Given the description of an element on the screen output the (x, y) to click on. 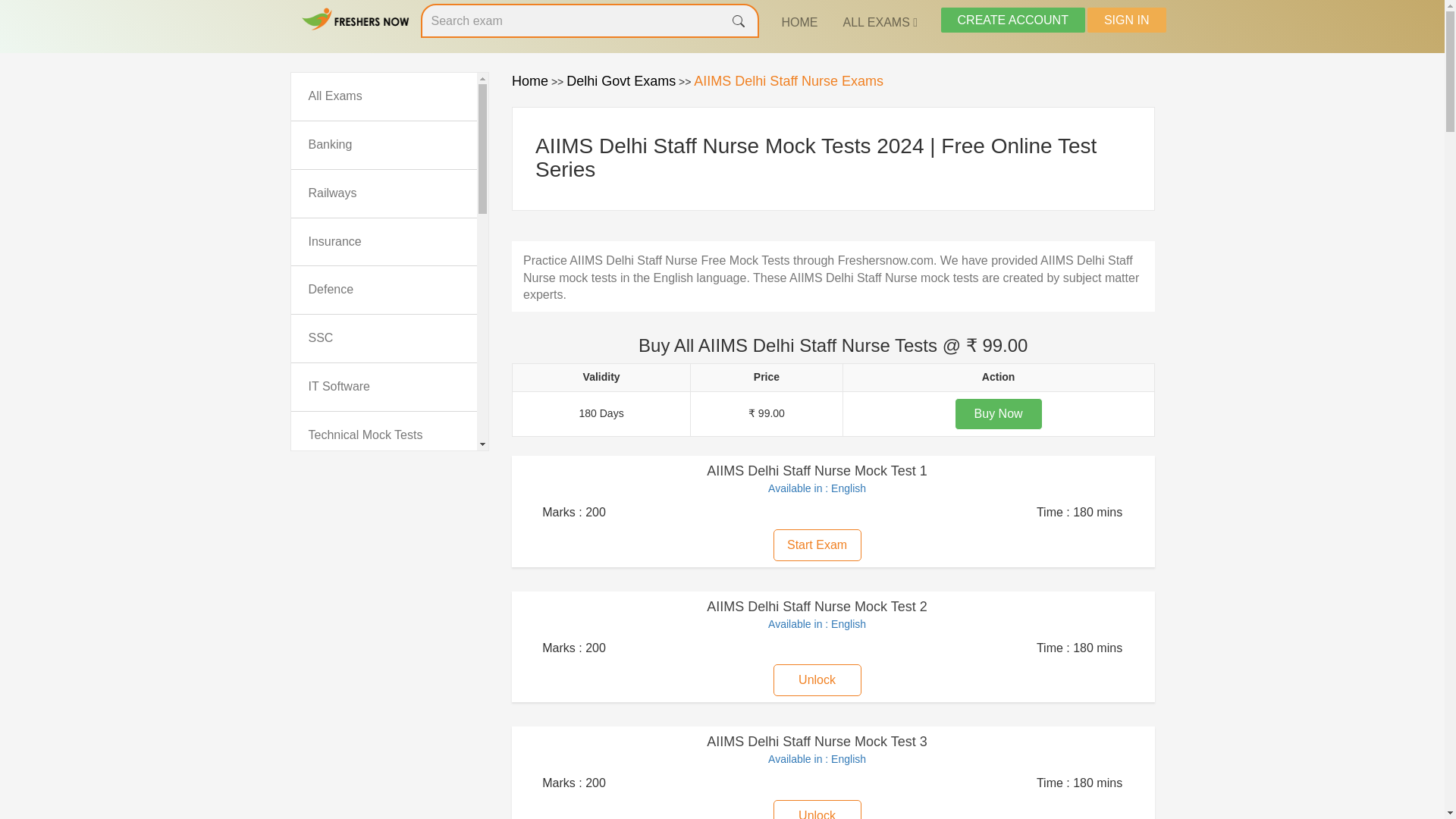
HOME (799, 22)
ALL EXAMS (879, 22)
CREATE ACCOUNT (1012, 19)
SIGN IN (1126, 19)
